Given the description of an element on the screen output the (x, y) to click on. 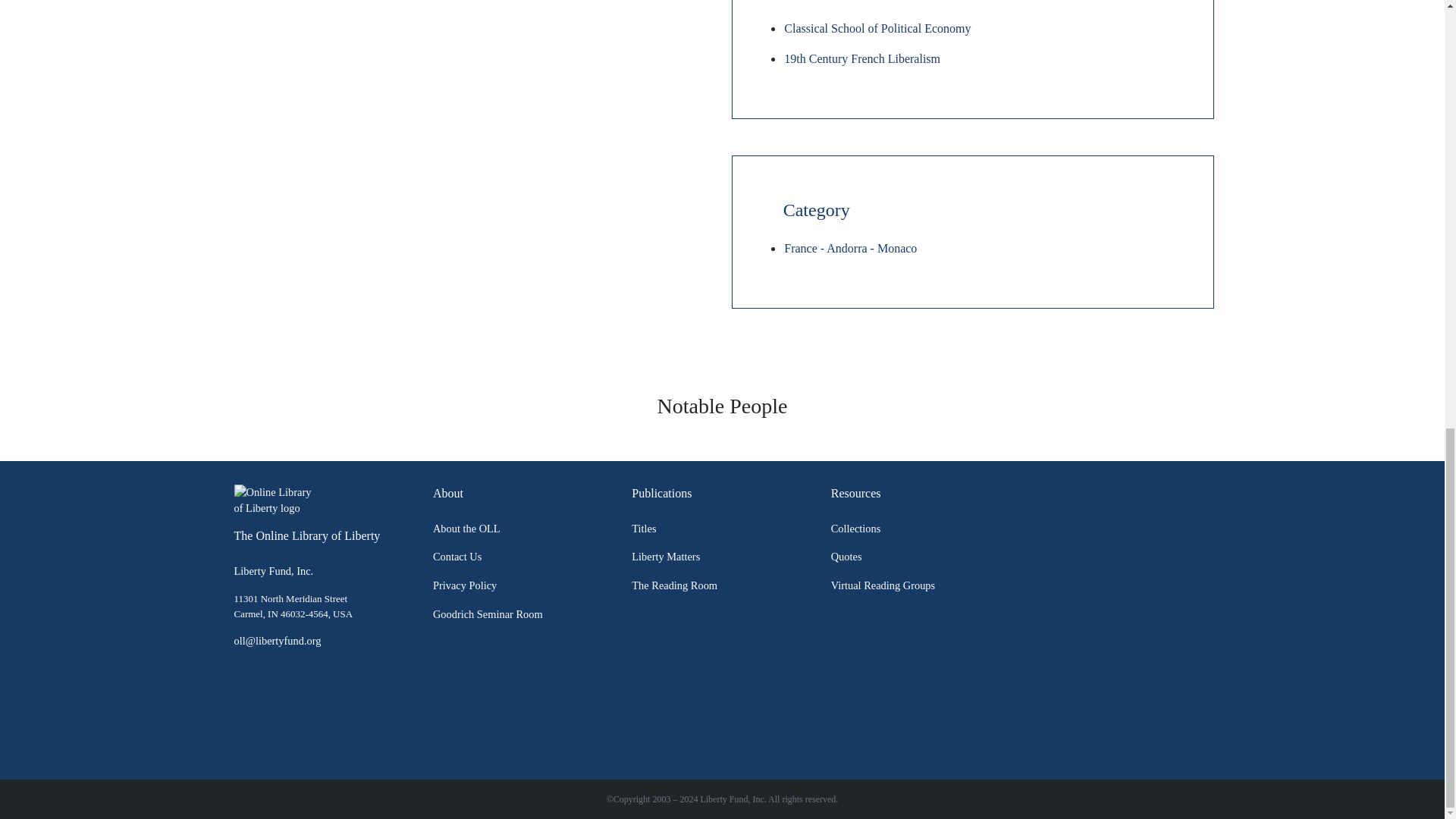
19th Century French Liberalism (862, 58)
Classical School of Political Economy (877, 28)
France - Andorra - Monaco (850, 247)
